Given the description of an element on the screen output the (x, y) to click on. 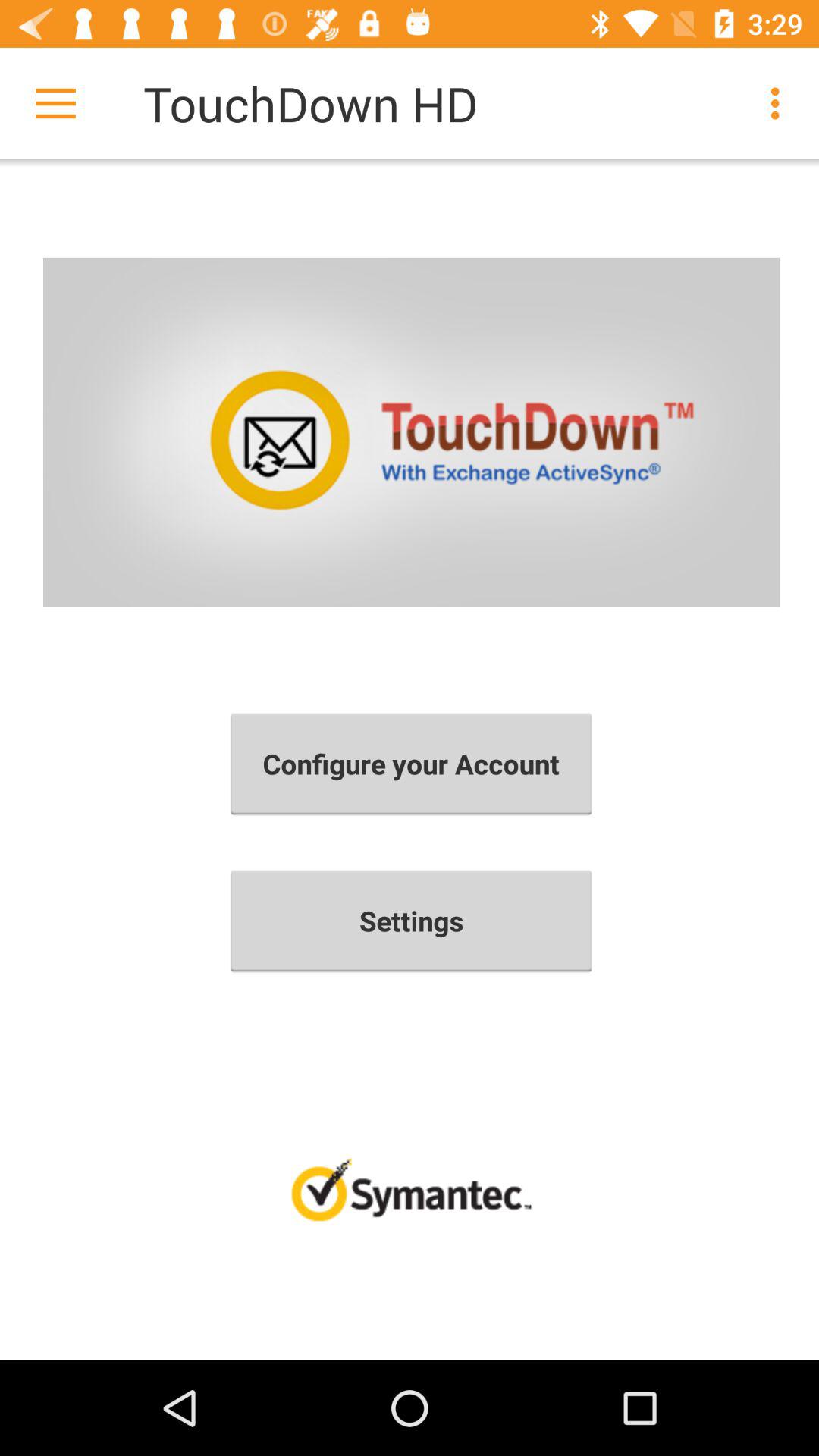
click the icon at the top left corner (55, 103)
